Given the description of an element on the screen output the (x, y) to click on. 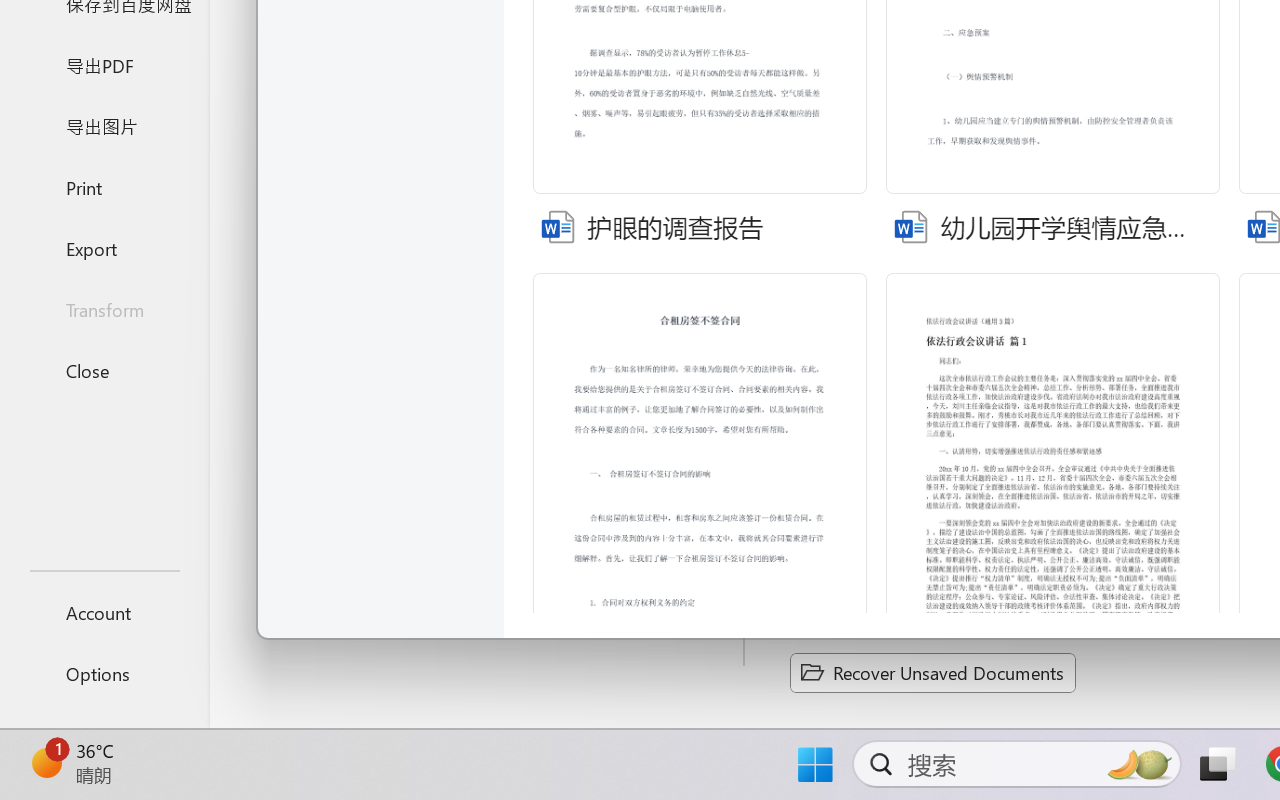
Recover Unsaved Documents (932, 672)
